Given the description of an element on the screen output the (x, y) to click on. 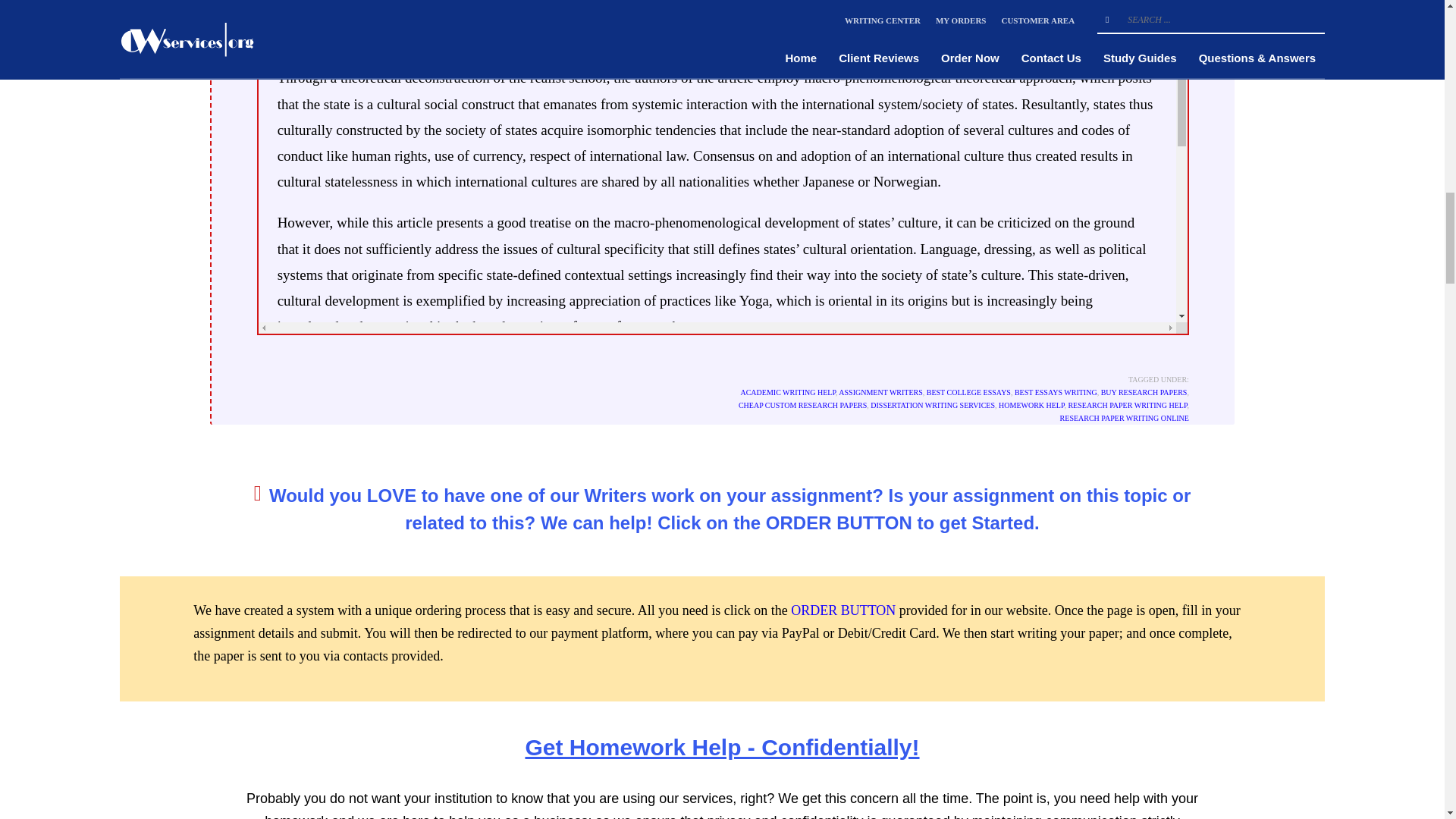
RESEARCH PAPER WRITING ONLINE (1124, 418)
HOMEWORK HELP (1031, 405)
BEST COLLEGE ESSAYS (968, 392)
ASSIGNMENT WRITERS (879, 392)
RESEARCH PAPER WRITING HELP (1126, 405)
BUY RESEARCH PAPERS (1144, 392)
BEST ESSAYS WRITING (1055, 392)
ORDER BUTTON (842, 610)
ACADEMIC WRITING HELP (786, 392)
DISSERTATION WRITING SERVICES (932, 405)
